Given the description of an element on the screen output the (x, y) to click on. 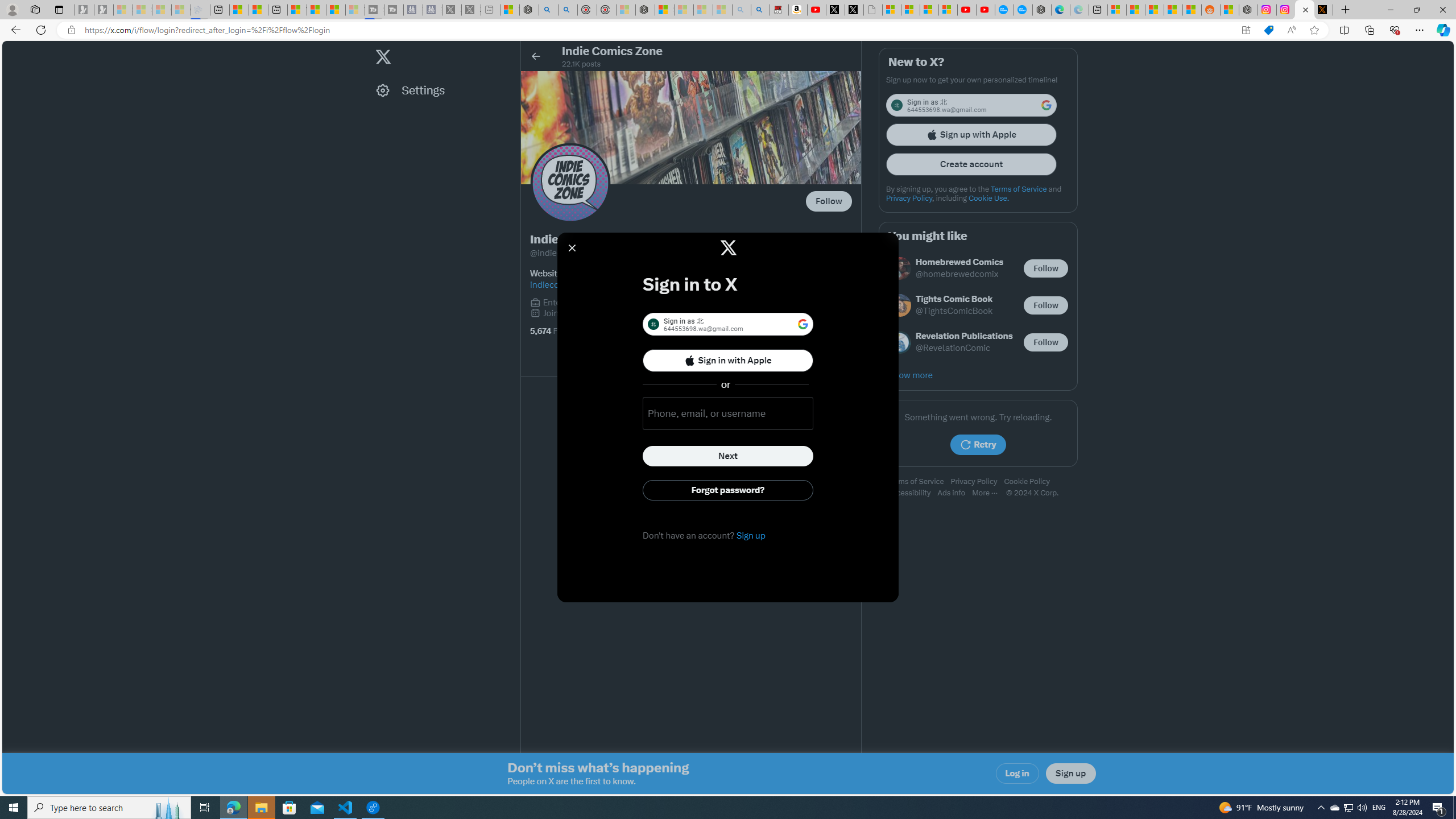
Log in to X / X (1304, 9)
Sign up (1070, 773)
Shanghai, China Weather trends | Microsoft Weather (1192, 9)
X - Sleeping (471, 9)
help.x.com | 524: A timeout occurred (1323, 9)
Wildlife - MSN (509, 9)
amazon - Search - Sleeping (741, 9)
